Given the description of an element on the screen output the (x, y) to click on. 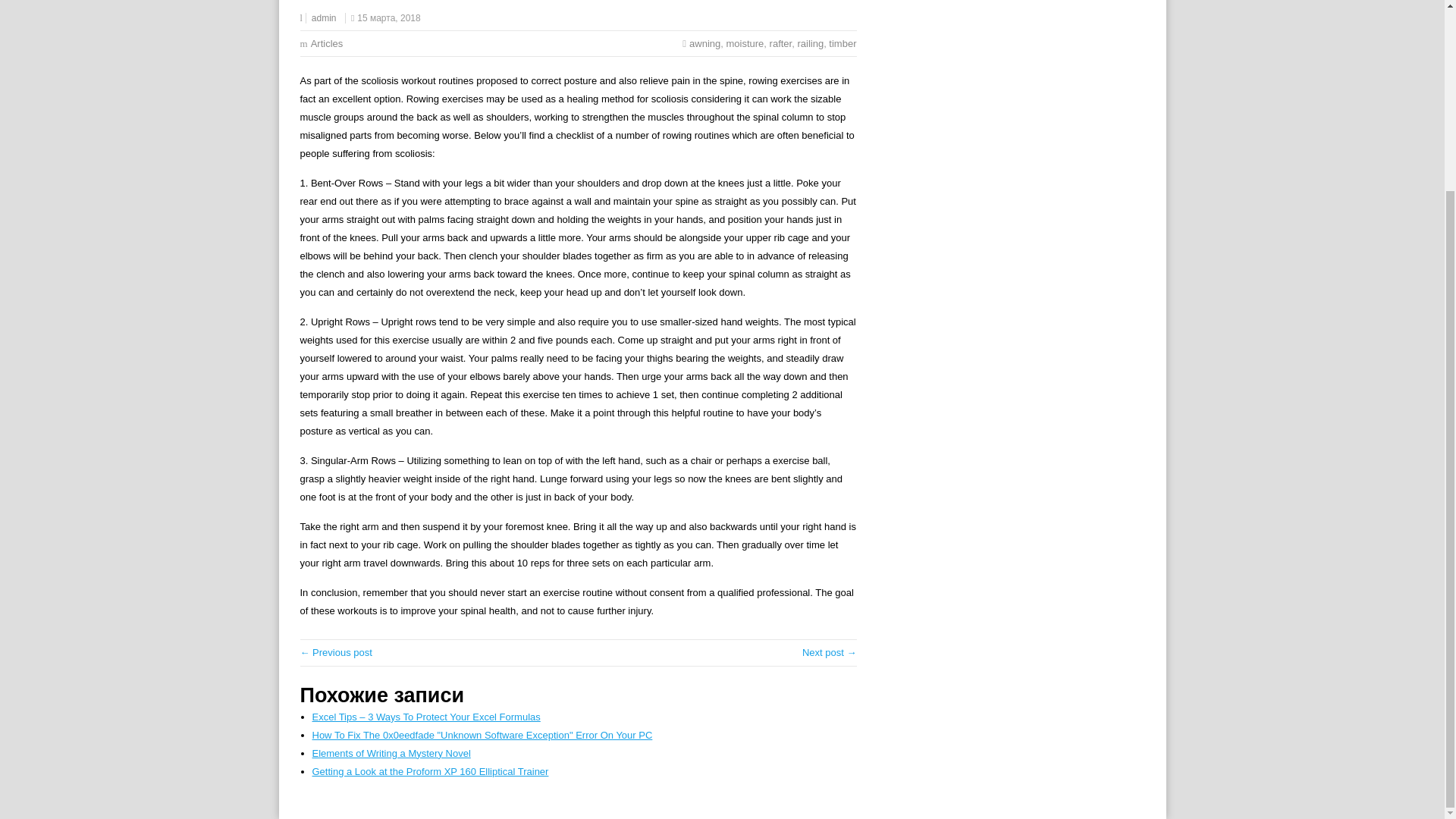
rafter (781, 43)
awning (704, 43)
railing (810, 43)
Articles (327, 43)
Rock Music - A Good Influence? (829, 652)
admin (323, 18)
timber (842, 43)
Getting a Look at the Proform XP 160 Elliptical Trainer (430, 771)
moisture (743, 43)
How to Reverse Hypothyroidism and Get Pregnant ASAP (335, 652)
